Given the description of an element on the screen output the (x, y) to click on. 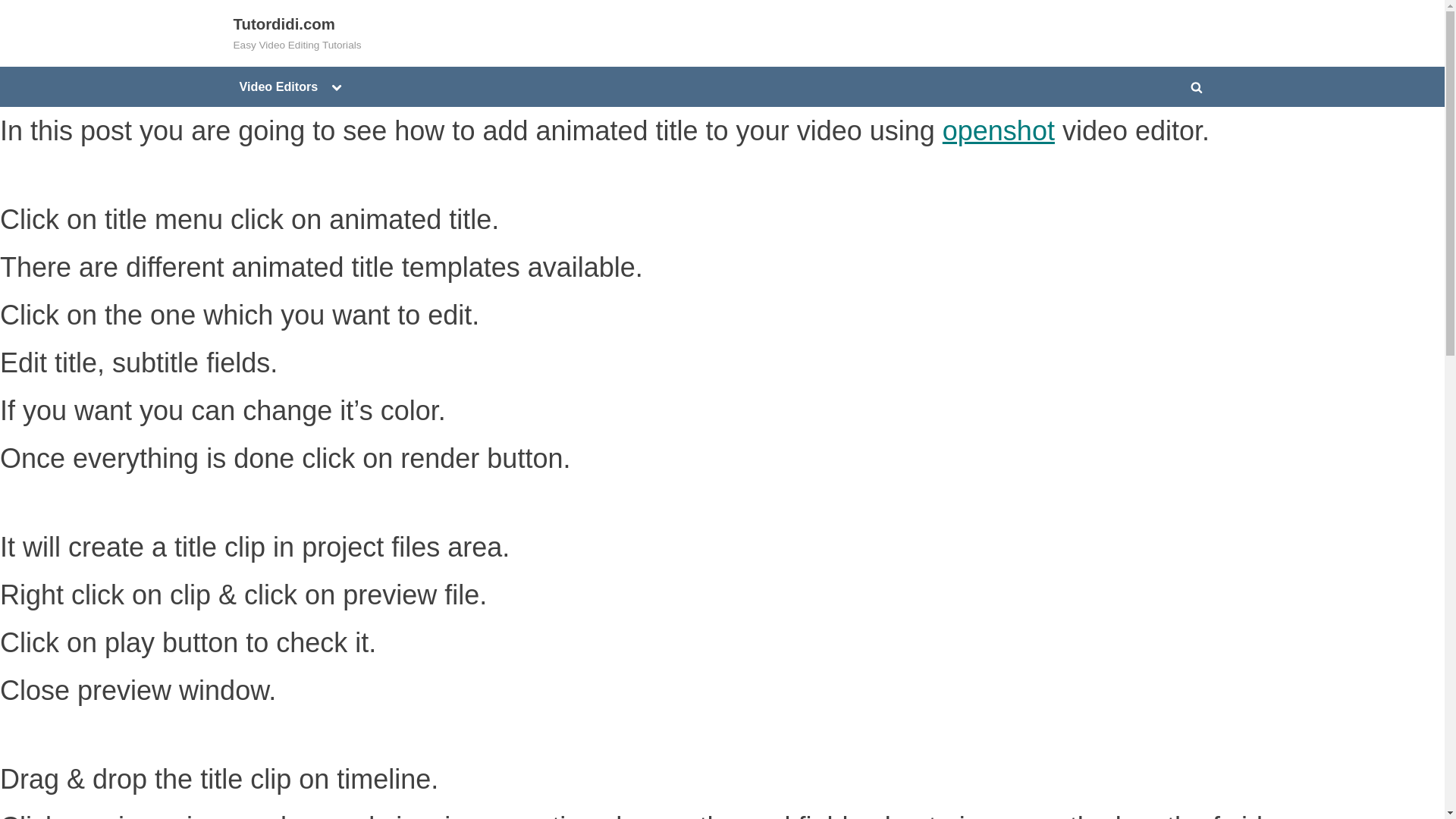
Toggle search form (1196, 87)
Toggle sub-menu (335, 86)
openshot (998, 130)
Tutordidi.com (283, 23)
Video Editors (278, 86)
